Given the description of an element on the screen output the (x, y) to click on. 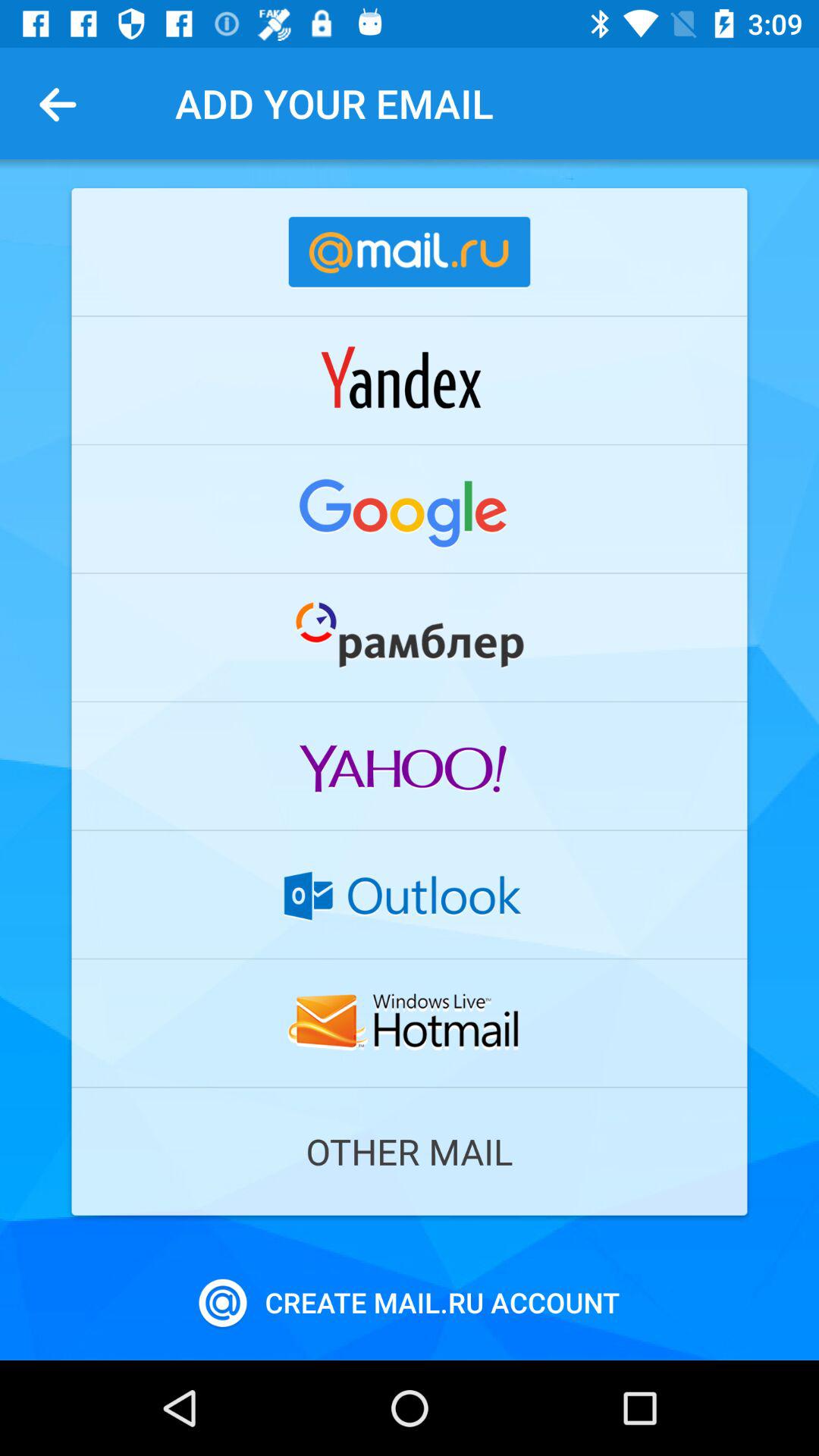
tap mail option (409, 508)
